Given the description of an element on the screen output the (x, y) to click on. 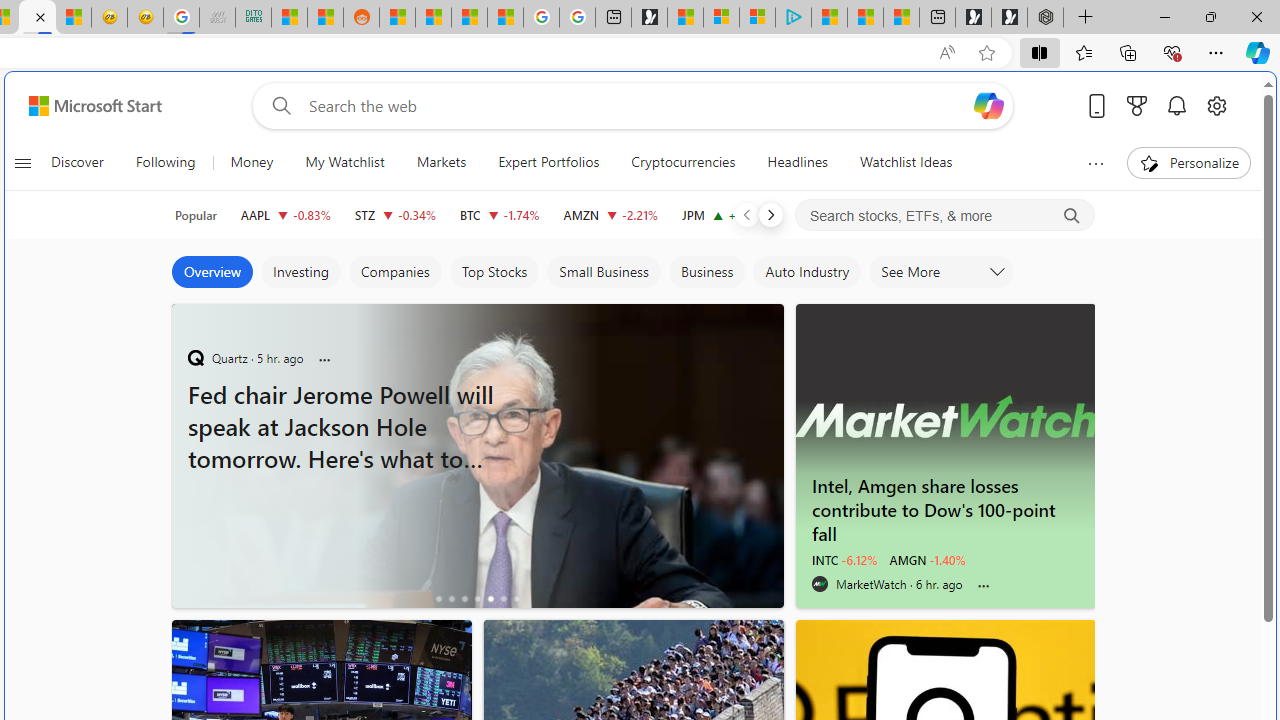
Expert Portfolios (548, 162)
BTC Bitcoin decrease 60,359.26 -1,049.65 -1.74% (499, 214)
Watchlist Ideas (905, 162)
AMGN -1.40% (927, 560)
Search stocks, ETFs, & more (945, 215)
R******* | Trusted Community Engagement and Contributions (397, 17)
